Given the description of an element on the screen output the (x, y) to click on. 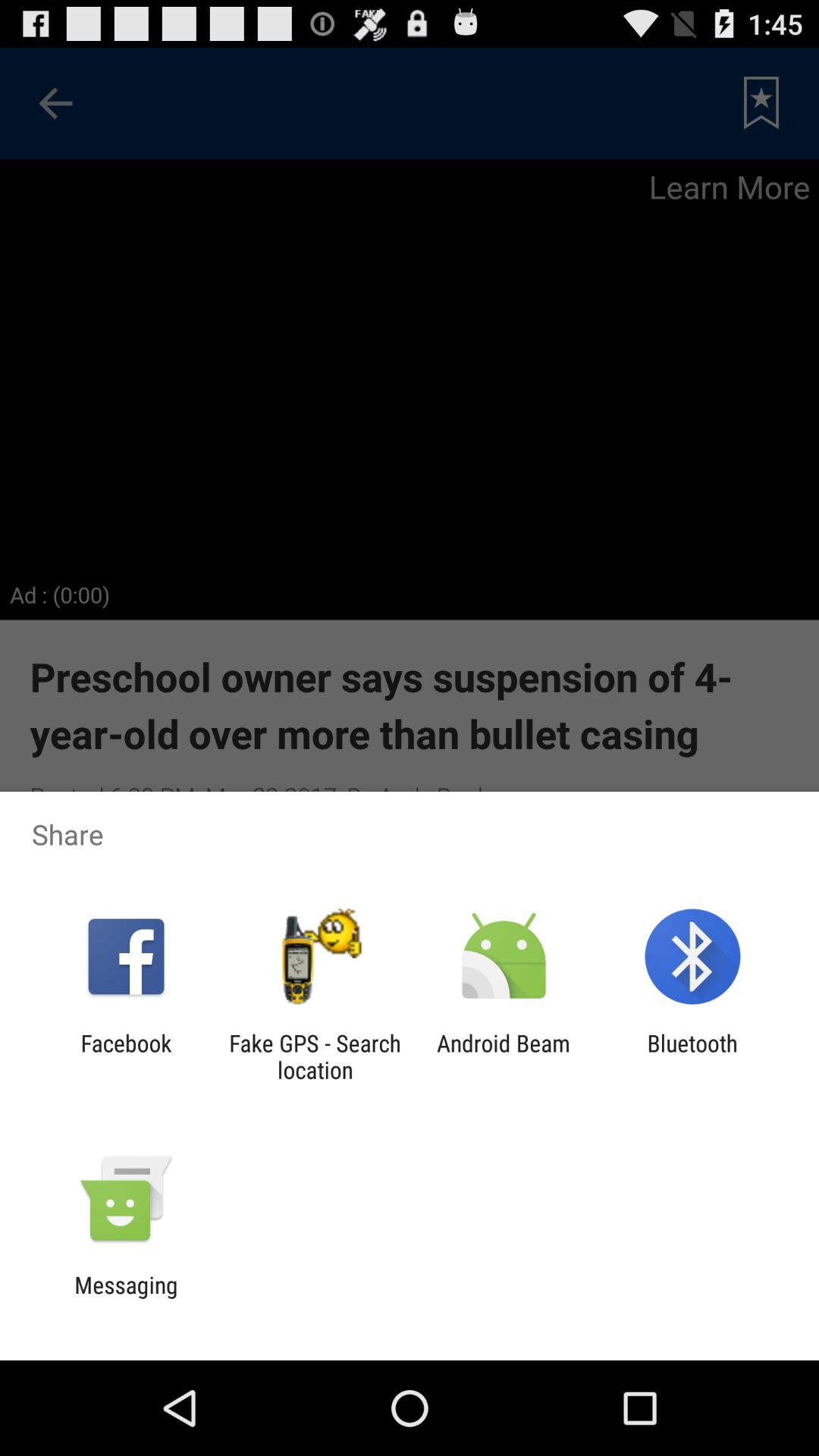
open the facebook icon (125, 1056)
